Given the description of an element on the screen output the (x, y) to click on. 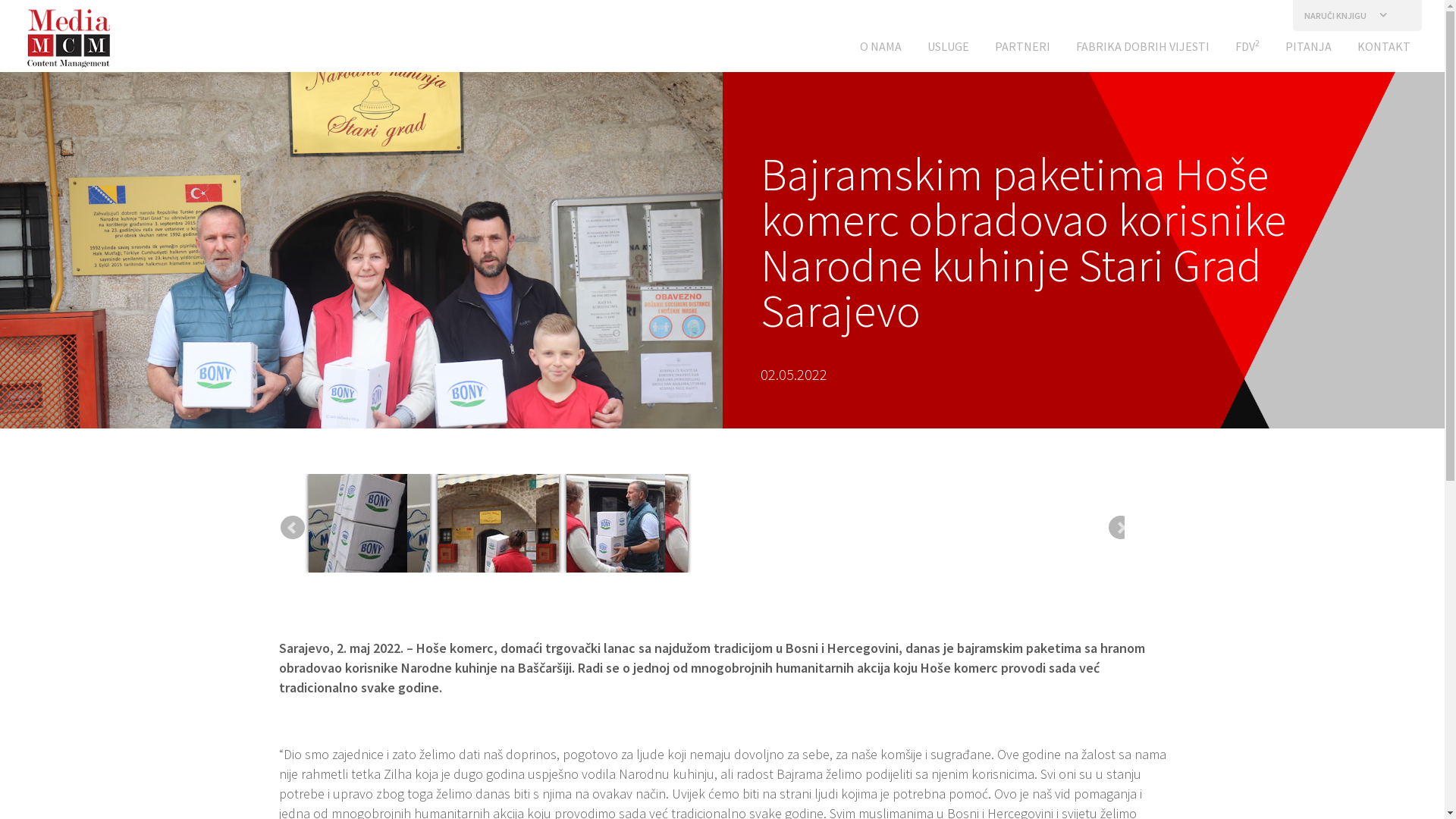
Prev Element type: text (292, 527)
O NAMA Element type: text (880, 50)
USLUGE Element type: text (948, 50)
PITANJA Element type: text (1308, 50)
FDV2 Element type: text (1246, 50)
FABRIKA DOBRIH VIJESTI Element type: text (1142, 50)
KONTAKT Element type: text (1383, 50)
Next Element type: text (1111, 527)
PARTNERI Element type: text (1022, 50)
